Given the description of an element on the screen output the (x, y) to click on. 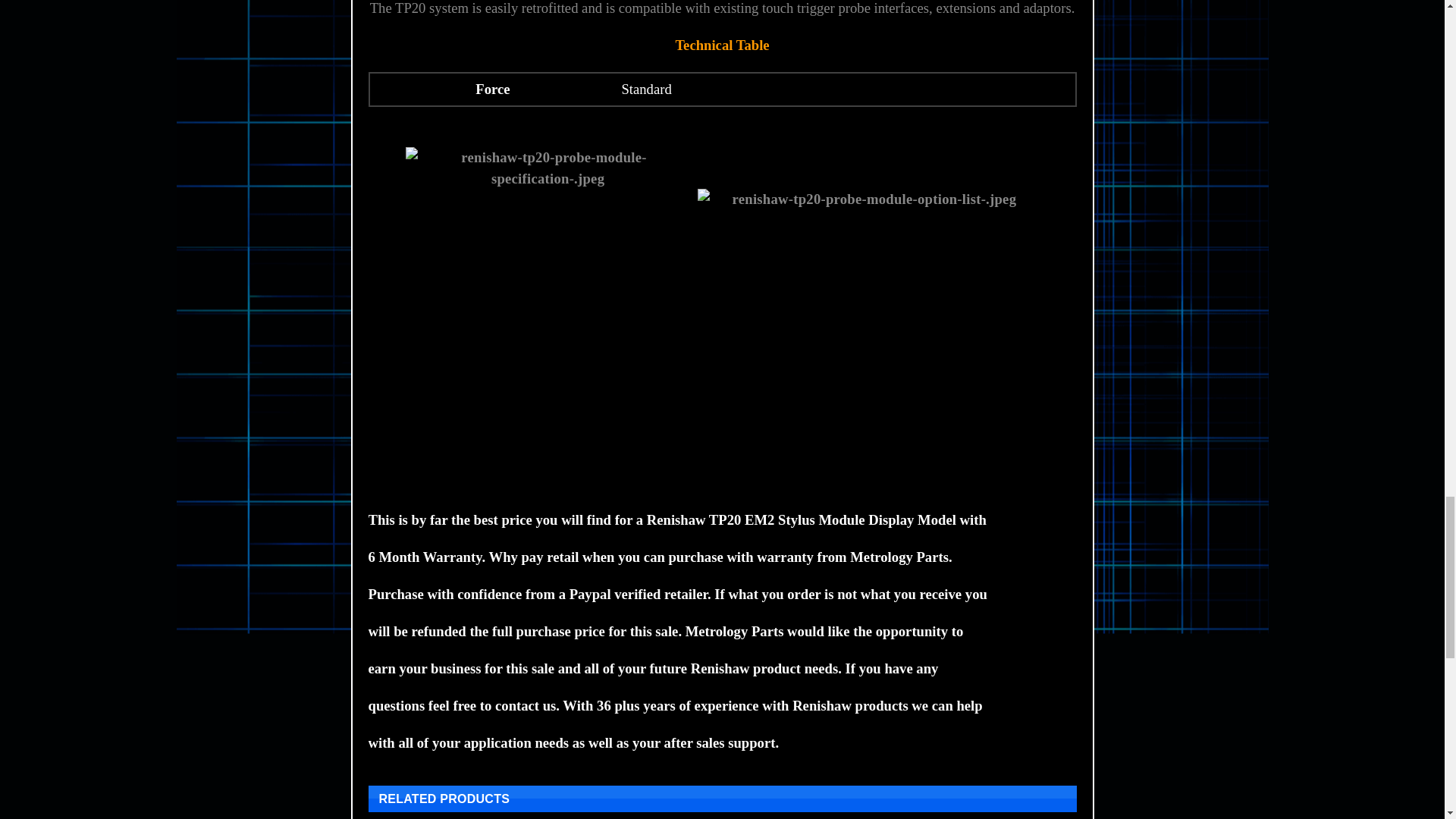
renishaw-tp20-probe-module-specification-.jpeg (548, 308)
renishaw-tp20-probe-module-option-list-.jpeg (868, 308)
